Given the description of an element on the screen output the (x, y) to click on. 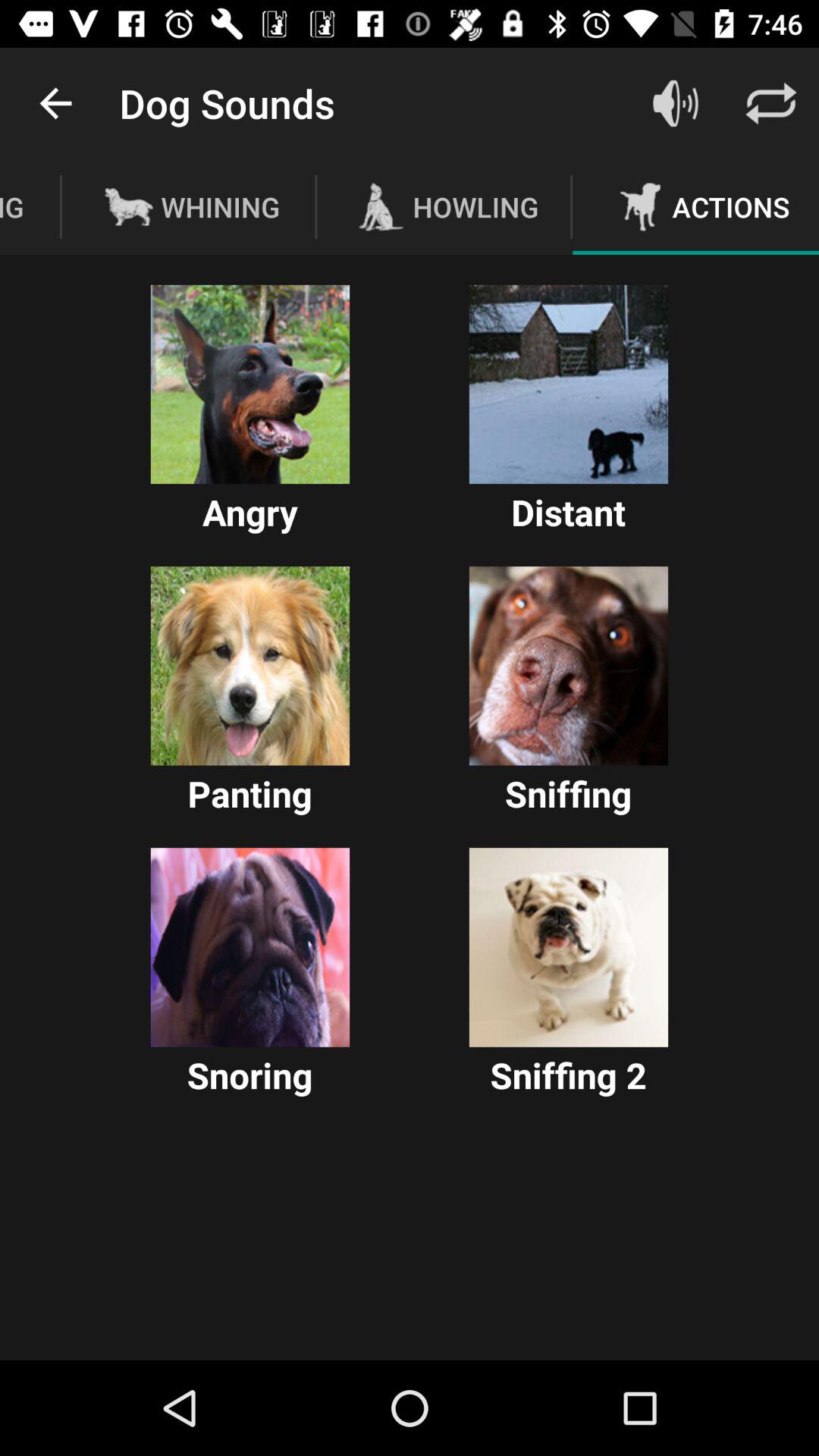
click the icon above actions (771, 103)
